Given the description of an element on the screen output the (x, y) to click on. 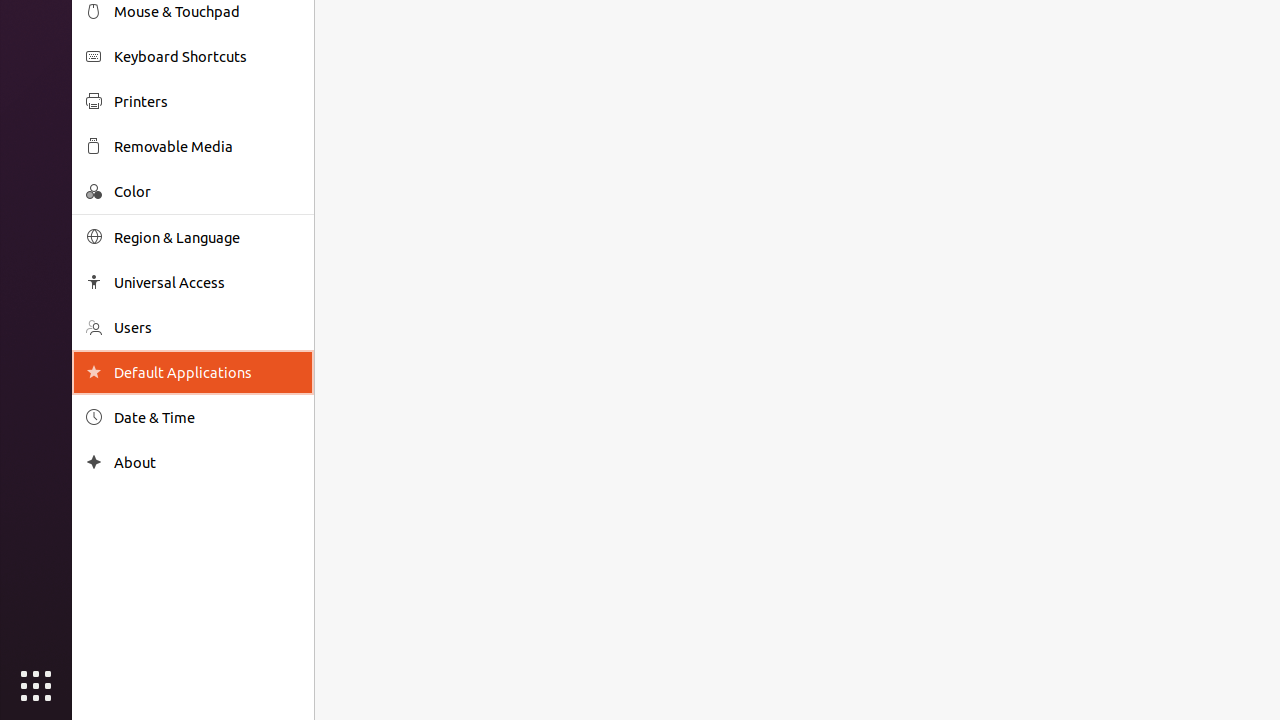
Users Element type: label (207, 327)
Printers Element type: label (207, 101)
About Element type: label (207, 462)
Mouse & Touchpad Element type: label (207, 11)
Color Element type: label (207, 191)
